Given the description of an element on the screen output the (x, y) to click on. 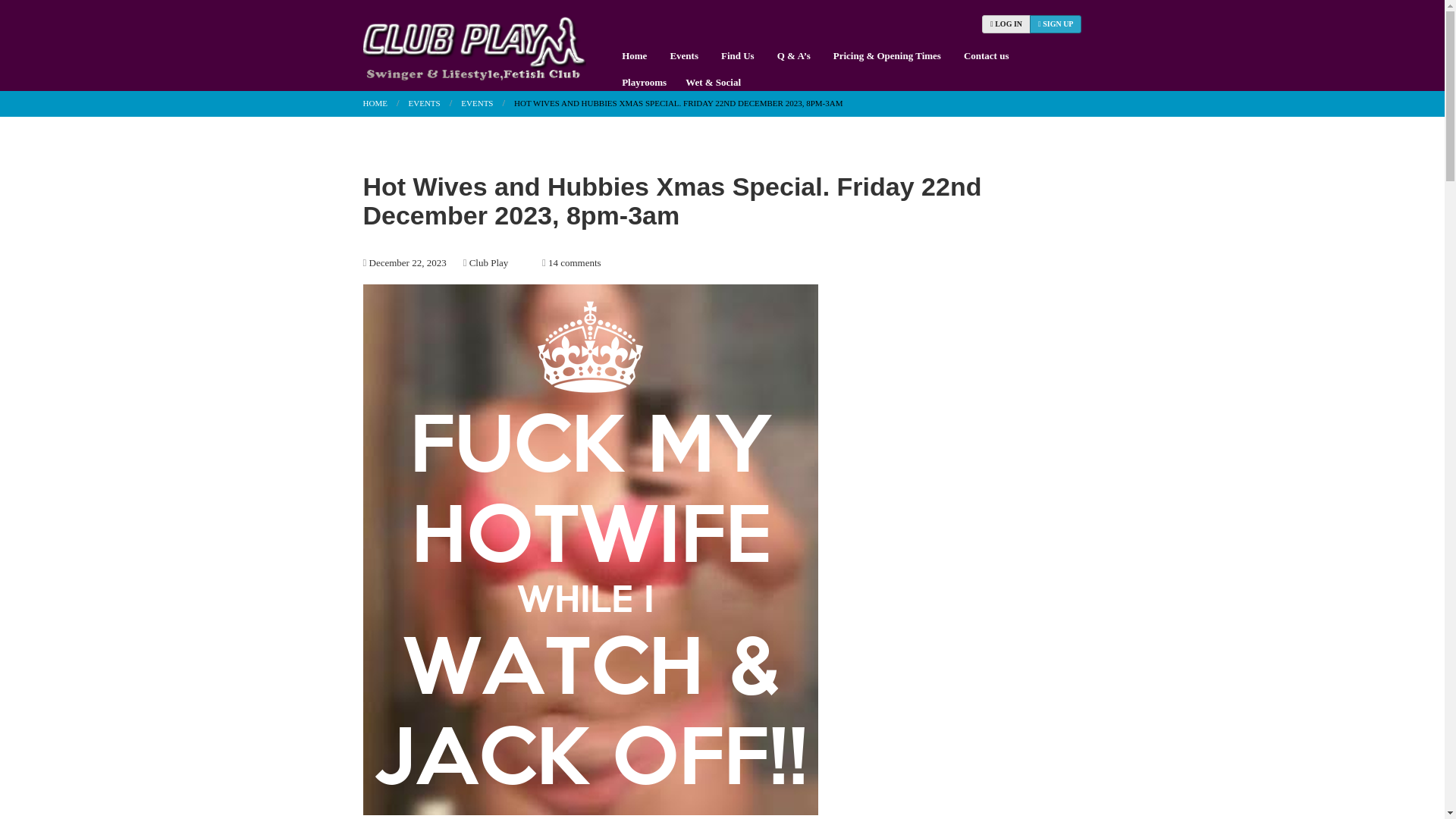
Find Us (737, 55)
SIGN UP (1055, 24)
LOG IN (1005, 24)
Playrooms (642, 81)
EVENTS (419, 102)
8:00 pm (406, 263)
Events (472, 102)
December 22, 2023 (406, 263)
Events (684, 55)
Home (634, 55)
